Given the description of an element on the screen output the (x, y) to click on. 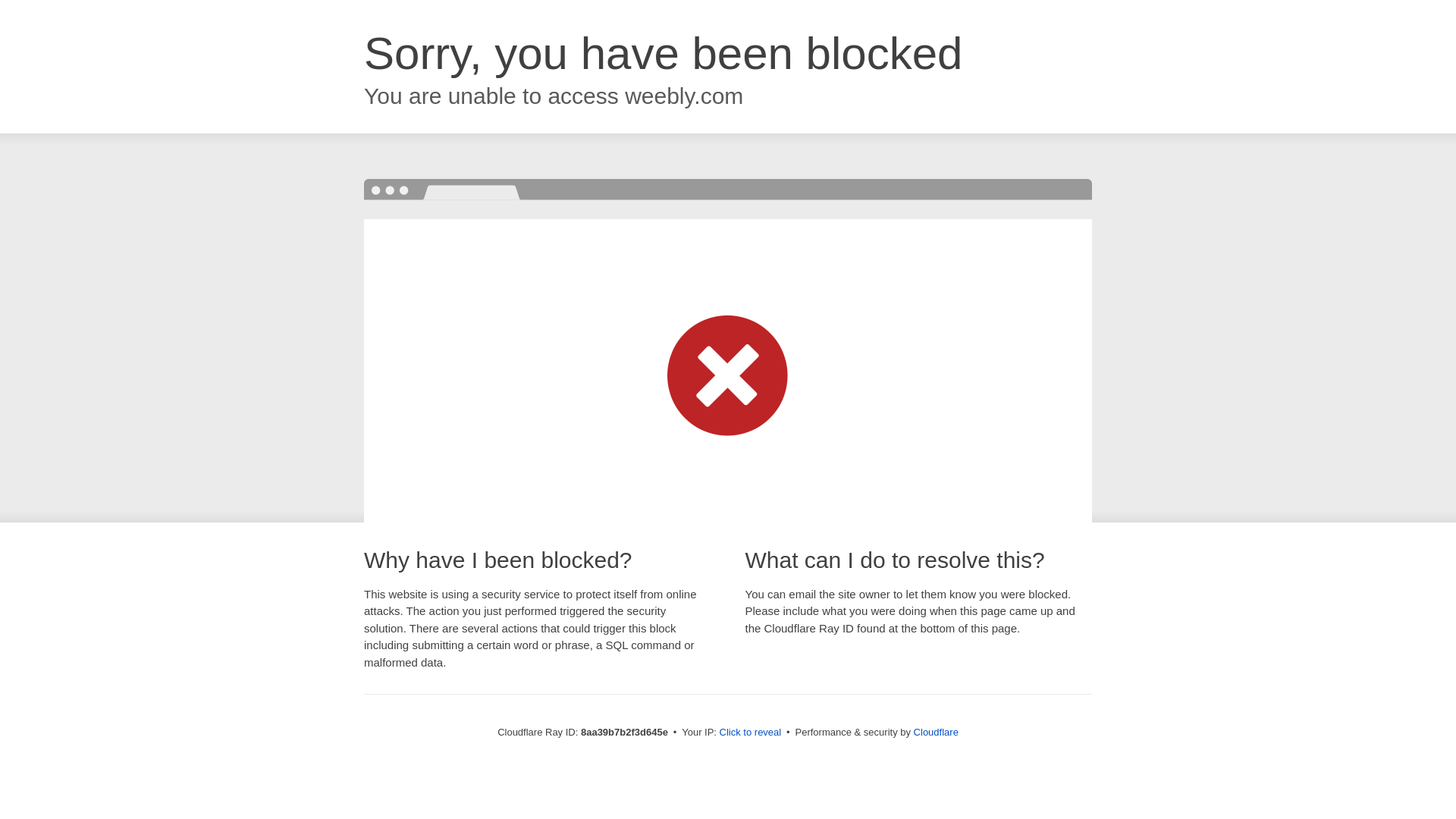
Click to reveal (750, 732)
Cloudflare (936, 731)
